Given the description of an element on the screen output the (x, y) to click on. 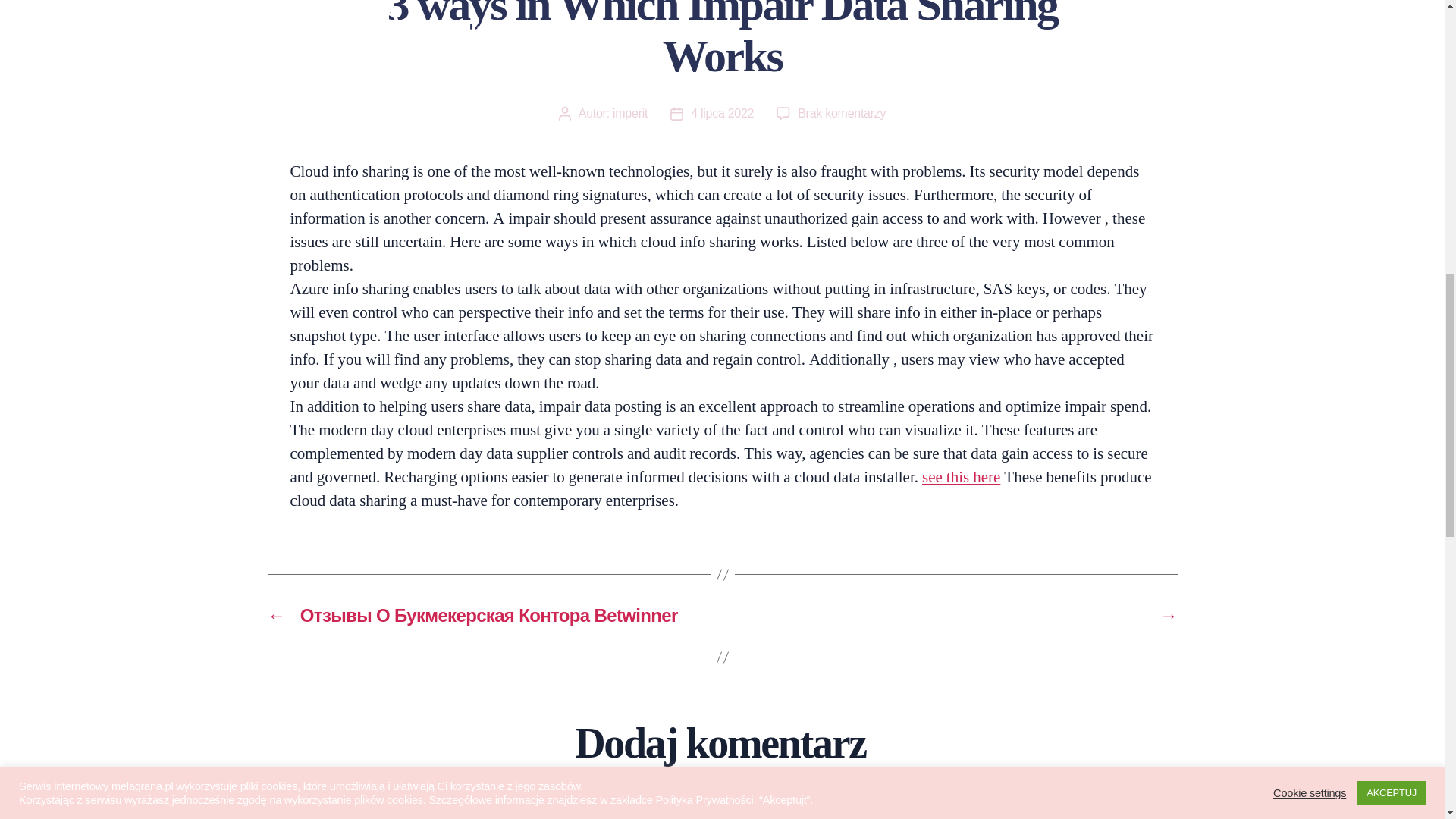
4 lipca 2022 (722, 113)
see this here (960, 476)
imperit (841, 113)
